Given the description of an element on the screen output the (x, y) to click on. 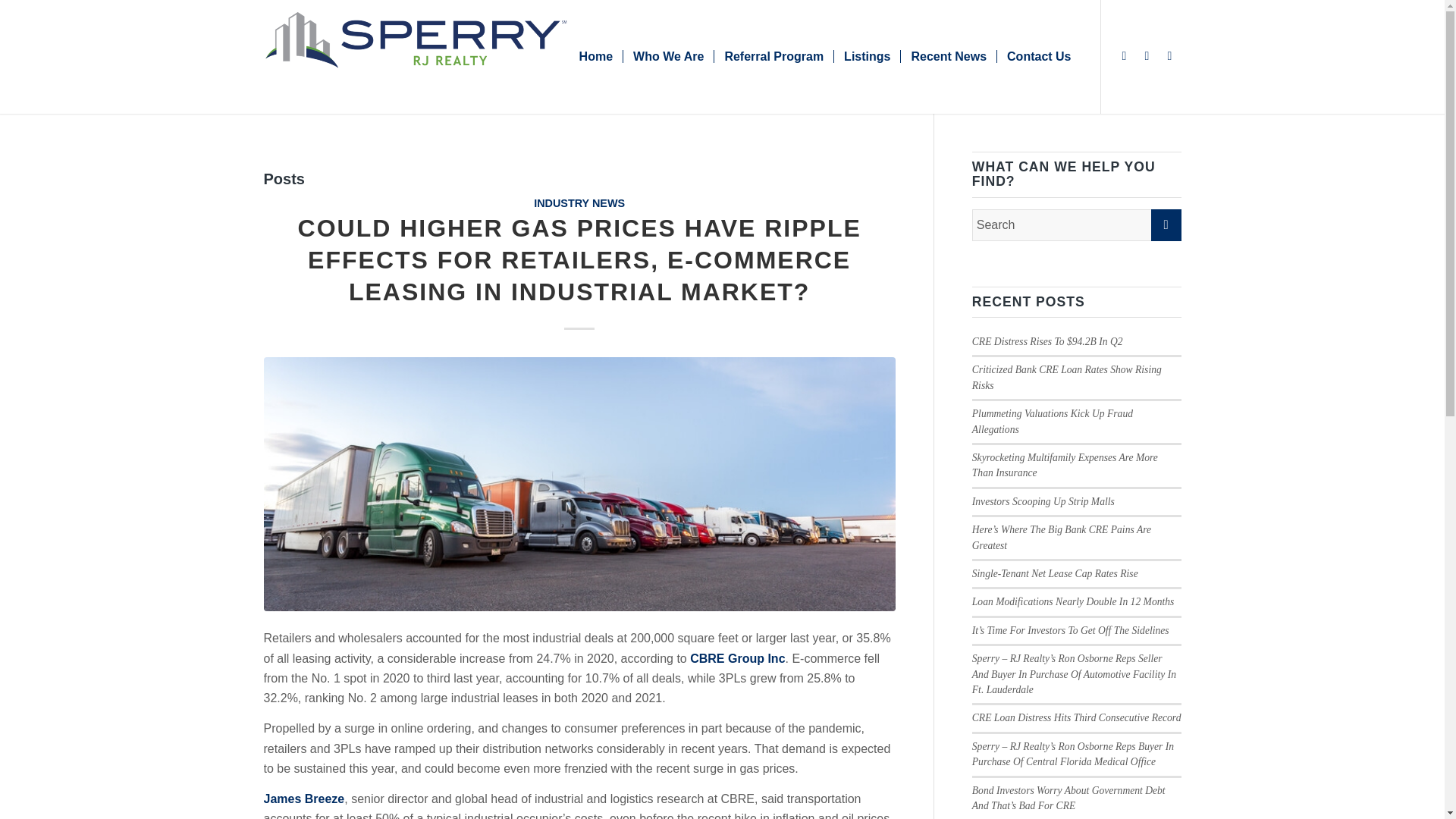
Mail (1169, 56)
Plummeting Valuations Kick Up Fraud Allegations (1052, 420)
Home (596, 56)
Loan Modifications Nearly Double In 12 Months (1073, 601)
Facebook (1124, 56)
Who We Are (668, 56)
Listings (865, 56)
INDUSTRY NEWS (579, 203)
Investors Scooping Up Strip Malls (1043, 501)
LinkedIn (1146, 56)
Referral Program (772, 56)
Skyrocketing Multifamily Expenses Are More Than Insurance (1064, 465)
Criticized Bank CRE Loan Rates Show Rising Risks (1066, 376)
